Given the description of an element on the screen output the (x, y) to click on. 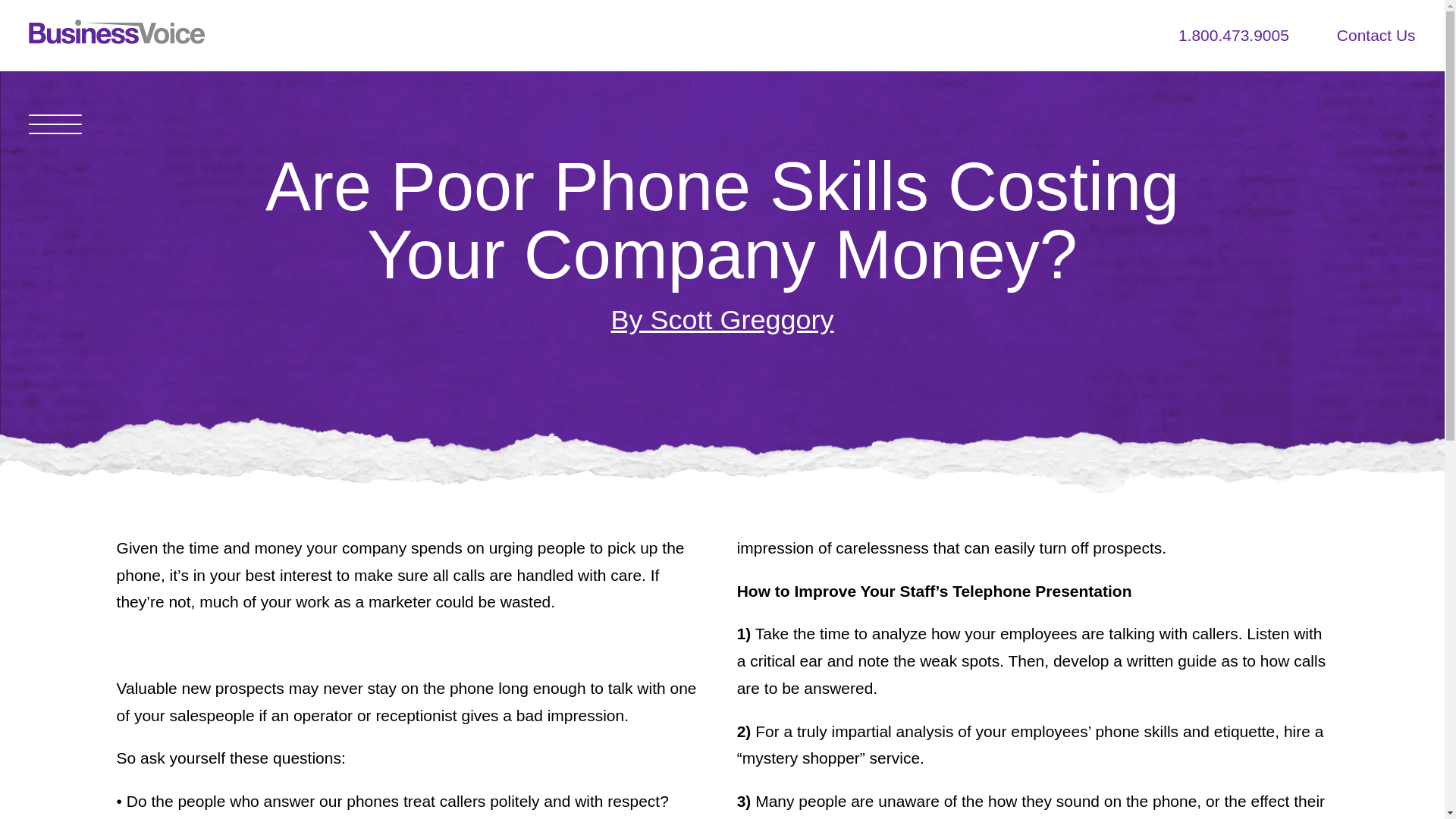
1.800.473.9005 (1232, 35)
By Scott Greggory (721, 319)
Contact Us (1375, 35)
